Given the description of an element on the screen output the (x, y) to click on. 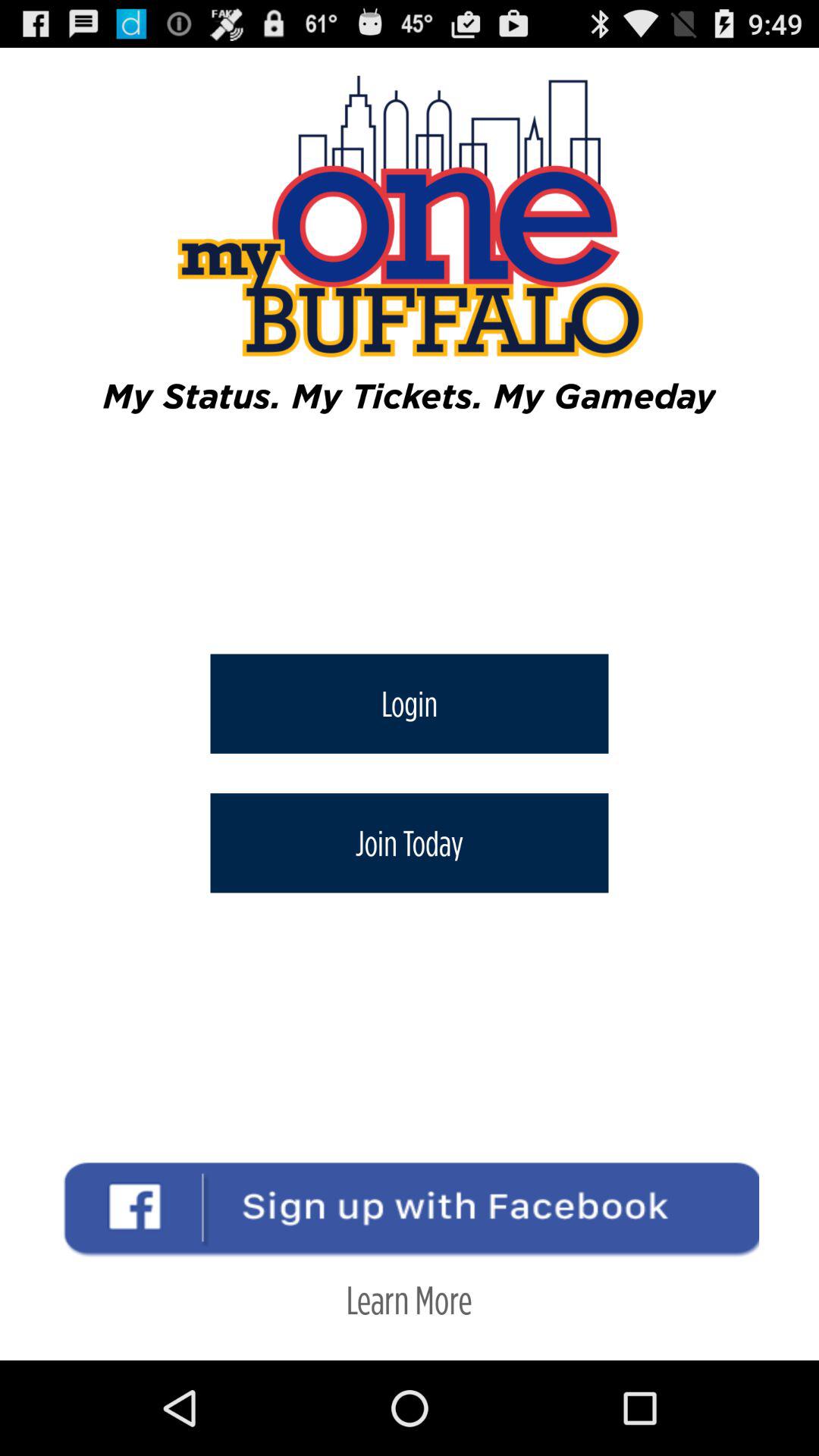
click item below my status my (409, 703)
